Given the description of an element on the screen output the (x, y) to click on. 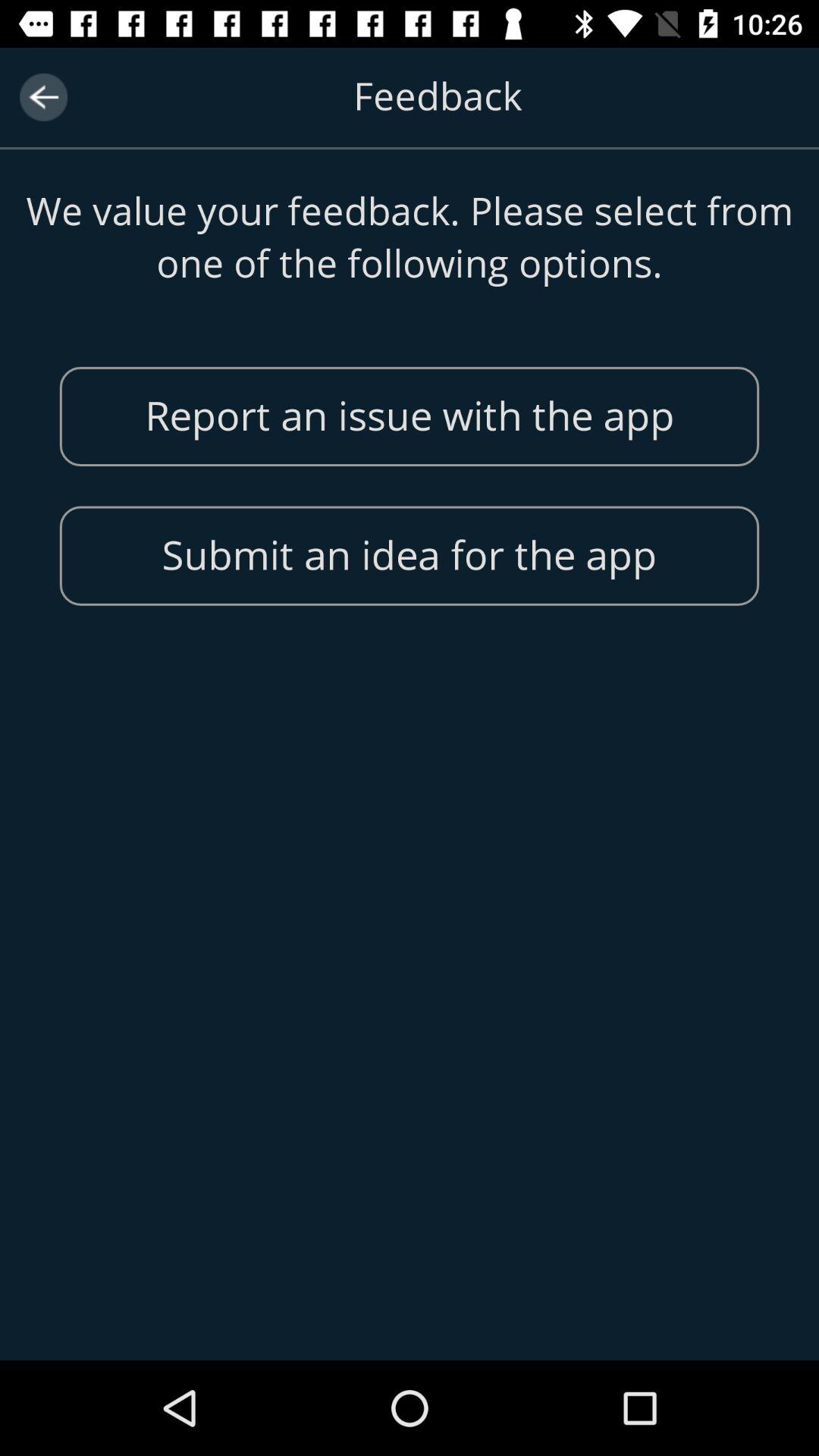
select the last test which is in single line (409, 555)
header text of the page (409, 114)
enter the first button in feedback (409, 415)
